Given the description of an element on the screen output the (x, y) to click on. 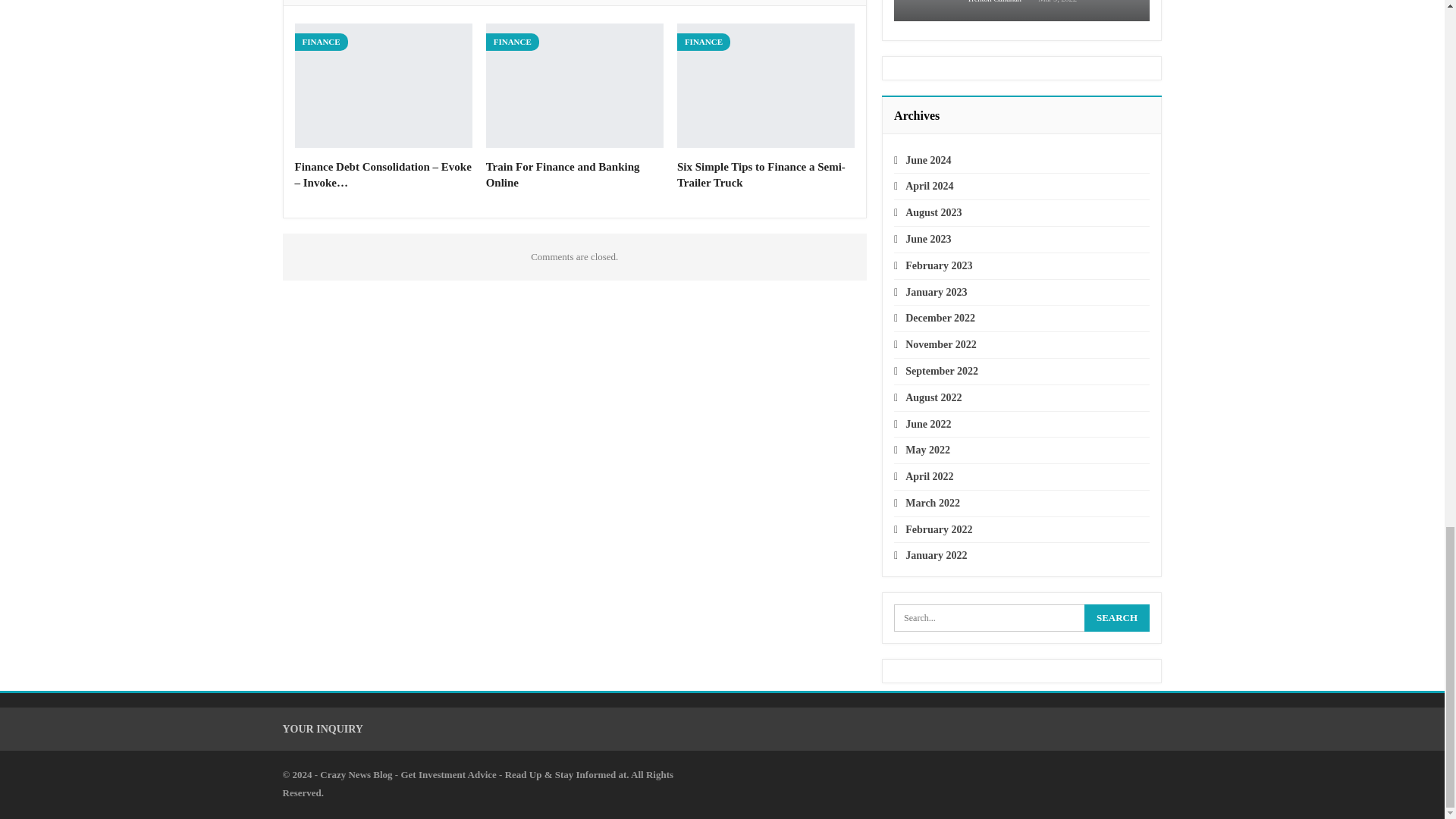
Six Simple Tips to Finance a Semi-Trailer Truck (761, 174)
Train For Finance and Banking Online (574, 85)
Search (1117, 617)
Six Simple Tips to Finance a Semi-Trailer Truck (765, 85)
Train For Finance and Banking Online (563, 174)
Search (1117, 617)
